Given the description of an element on the screen output the (x, y) to click on. 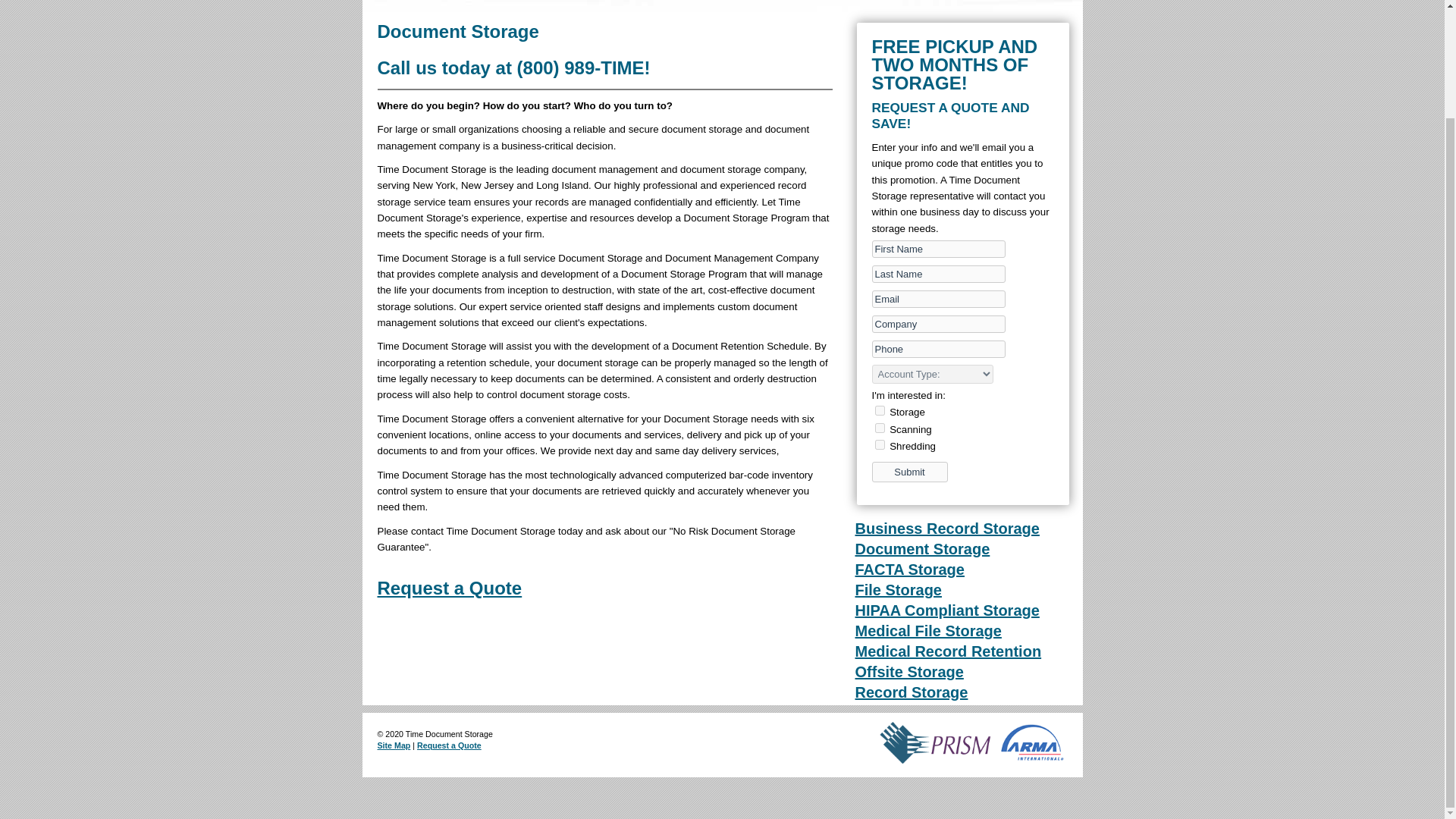
Submit (909, 471)
Medical File Storage (928, 630)
Record Storage (912, 692)
Request a Quote (448, 745)
1 (880, 428)
Phone (939, 348)
Business Record Storage (947, 528)
FACTA Storage (909, 569)
Company (939, 323)
HIPAA Compliant Storage (947, 610)
